Given the description of an element on the screen output the (x, y) to click on. 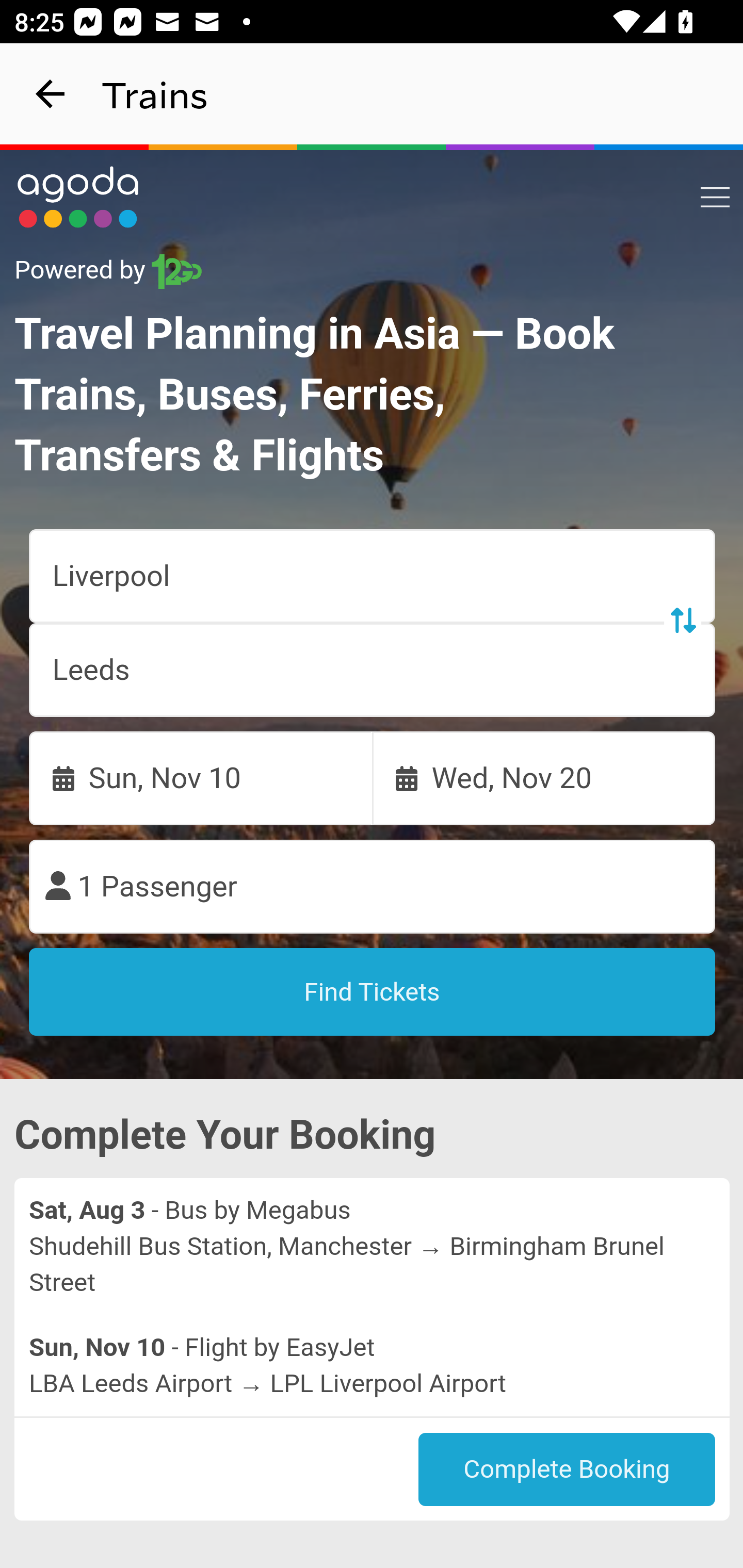
navigation_button (50, 93)
